Given the description of an element on the screen output the (x, y) to click on. 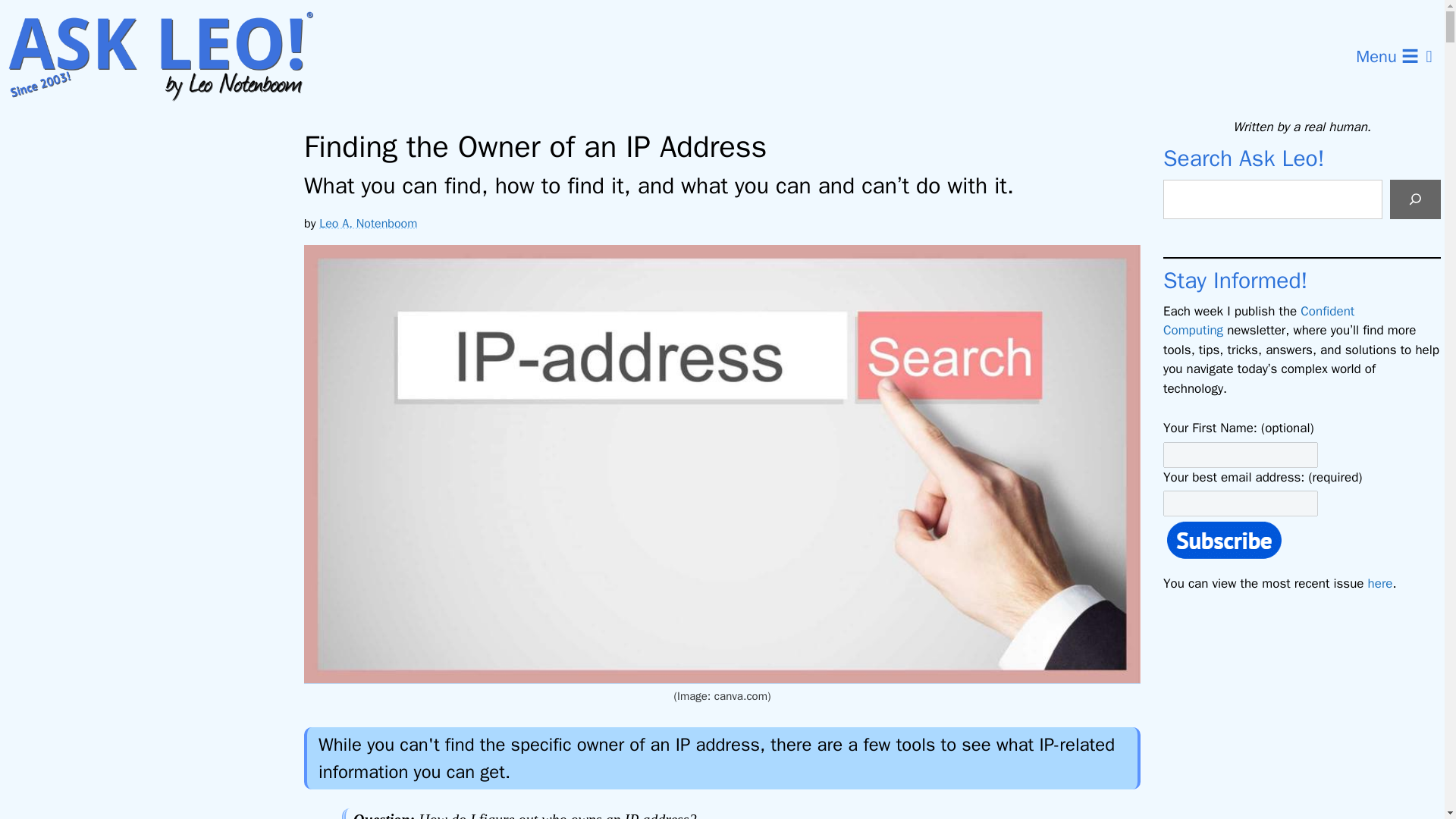
Ask Leo! (170, 56)
Leo A. Notenboom (367, 222)
Ask Leo! (165, 56)
